Given the description of an element on the screen output the (x, y) to click on. 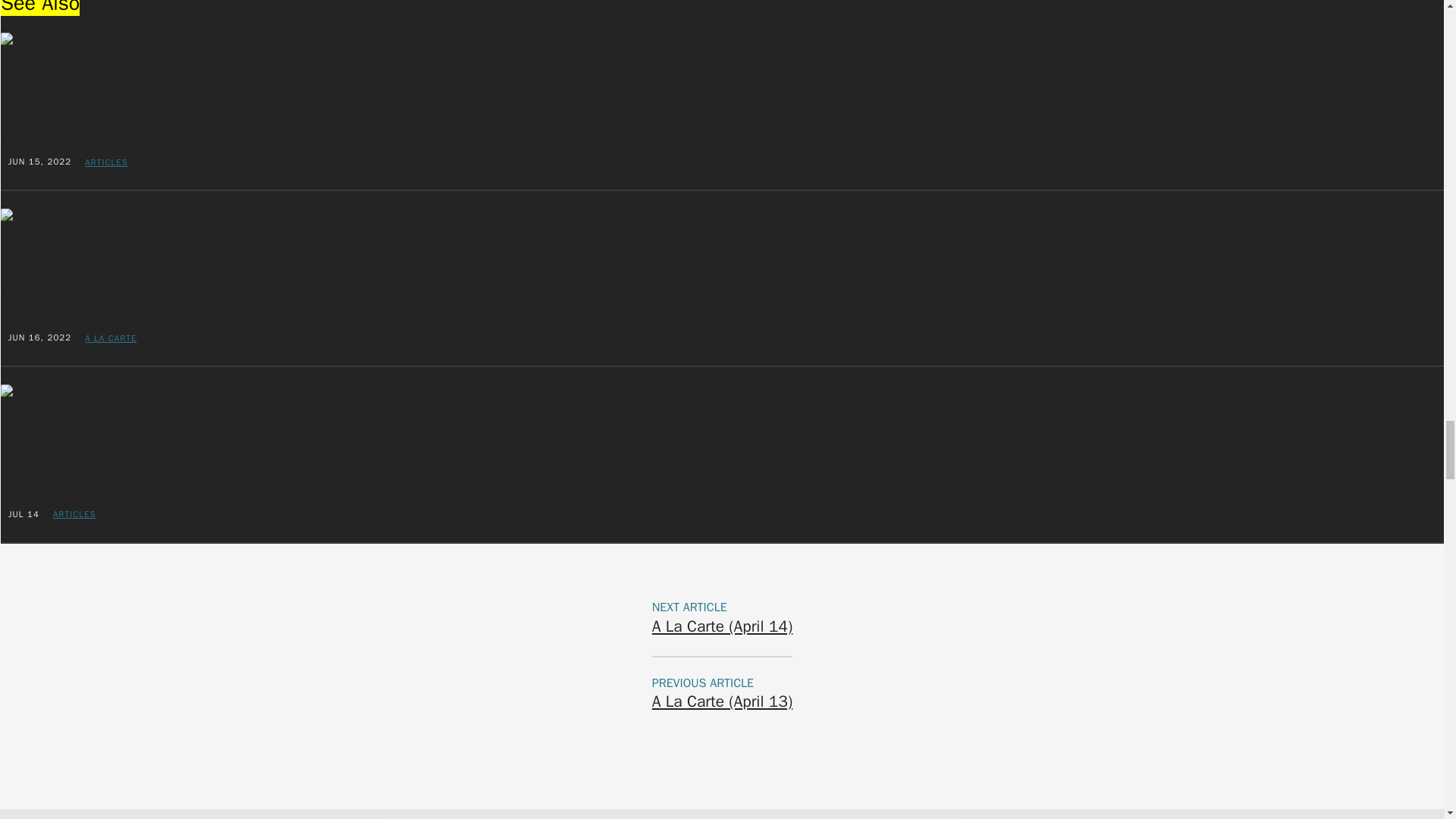
Jun 15, 2022 at 1:01 am (39, 161)
A LA CARTE (110, 337)
ARTICLES (106, 162)
259 words (130, 514)
1643 words (165, 162)
Jun 16, 2022 at 1:00 am (39, 337)
Jul 14, 2024 at 12:01 am (23, 513)
Sunday Devotional: Every Road and Every Sea (159, 466)
40 More Random Pieces of Advice for the Christian Life (194, 115)
268 words (171, 337)
